Given the description of an element on the screen output the (x, y) to click on. 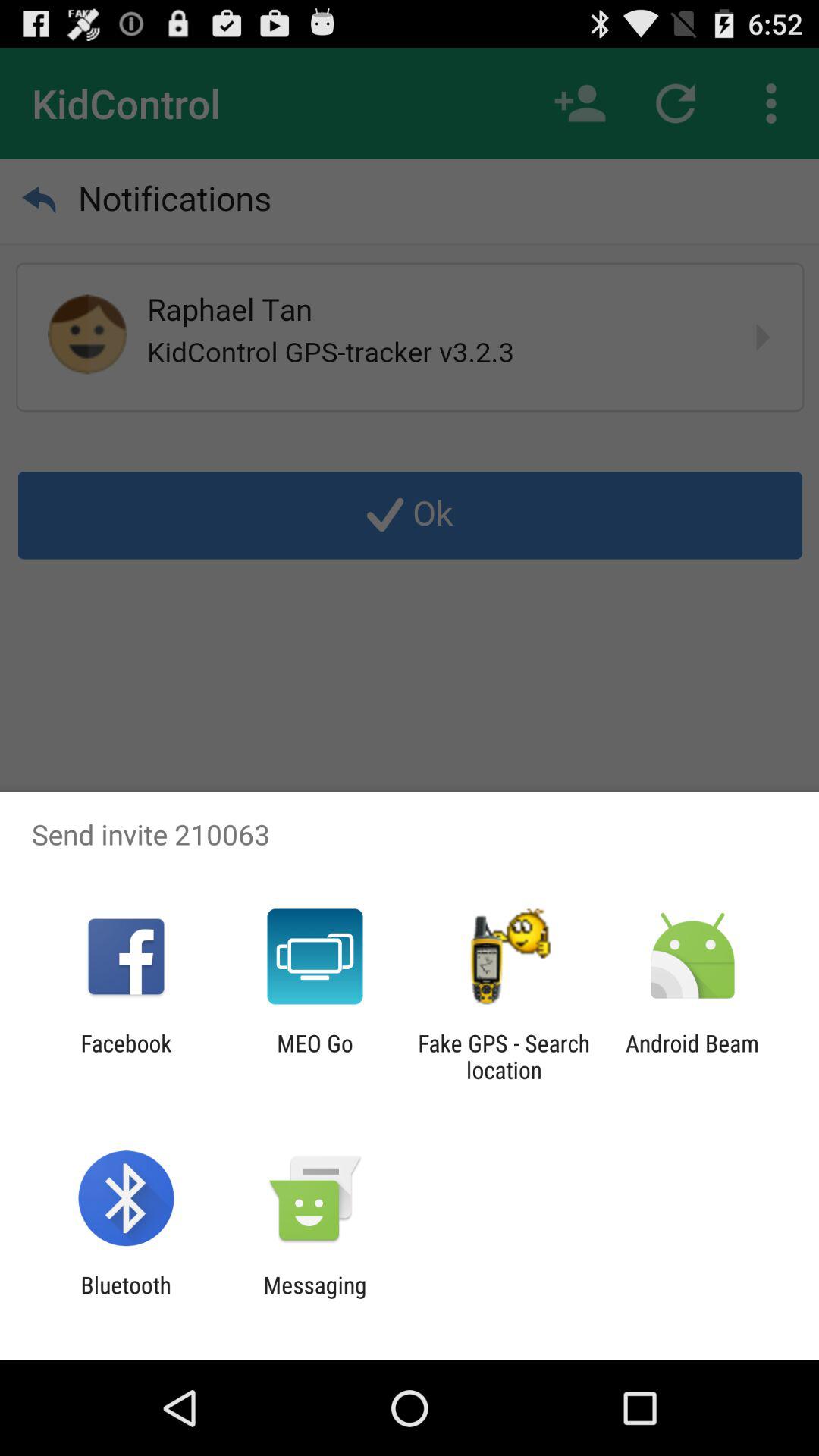
tap the icon to the right of the facebook item (314, 1056)
